Given the description of an element on the screen output the (x, y) to click on. 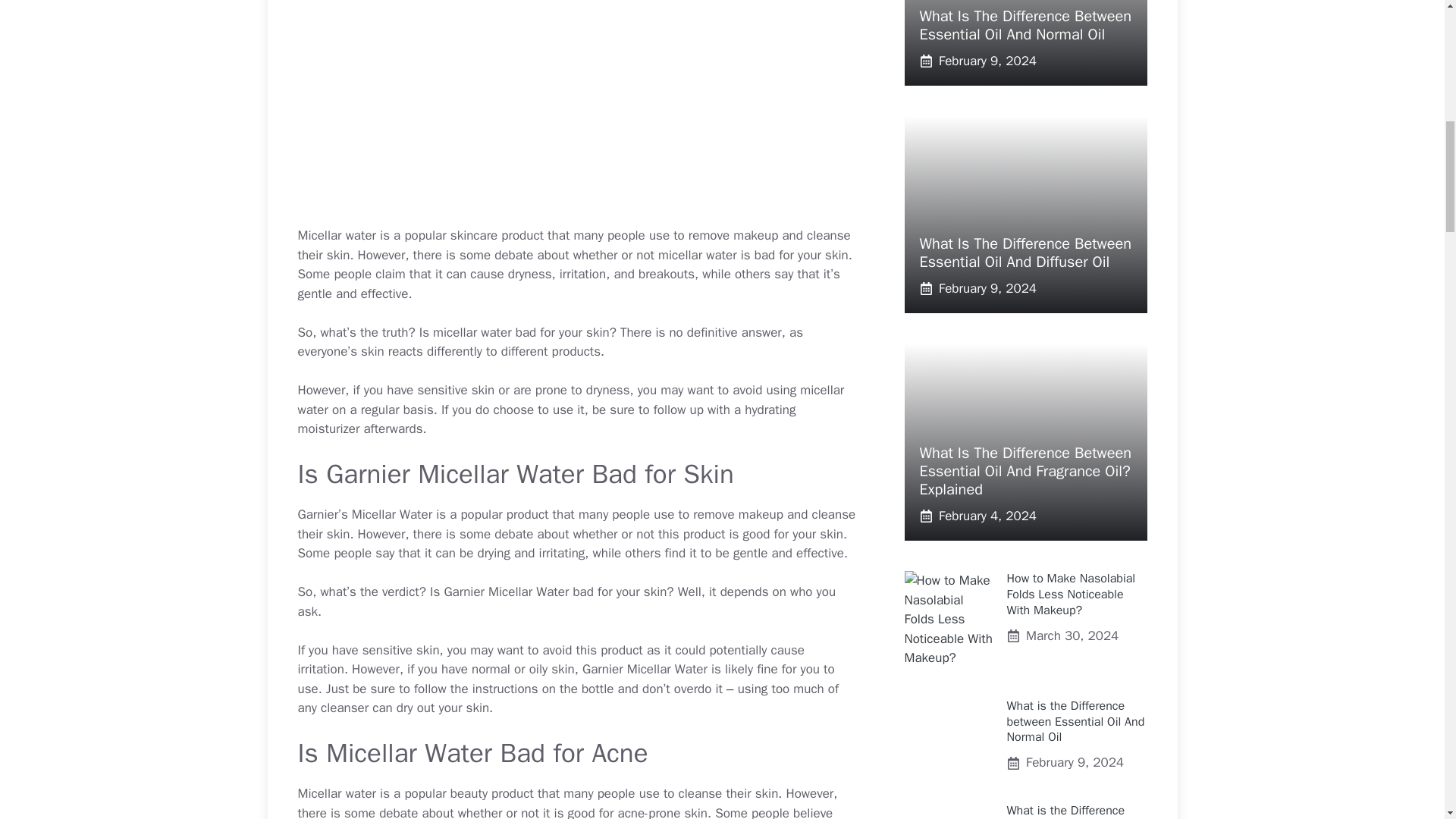
Scroll back to top (1406, 720)
